Given the description of an element on the screen output the (x, y) to click on. 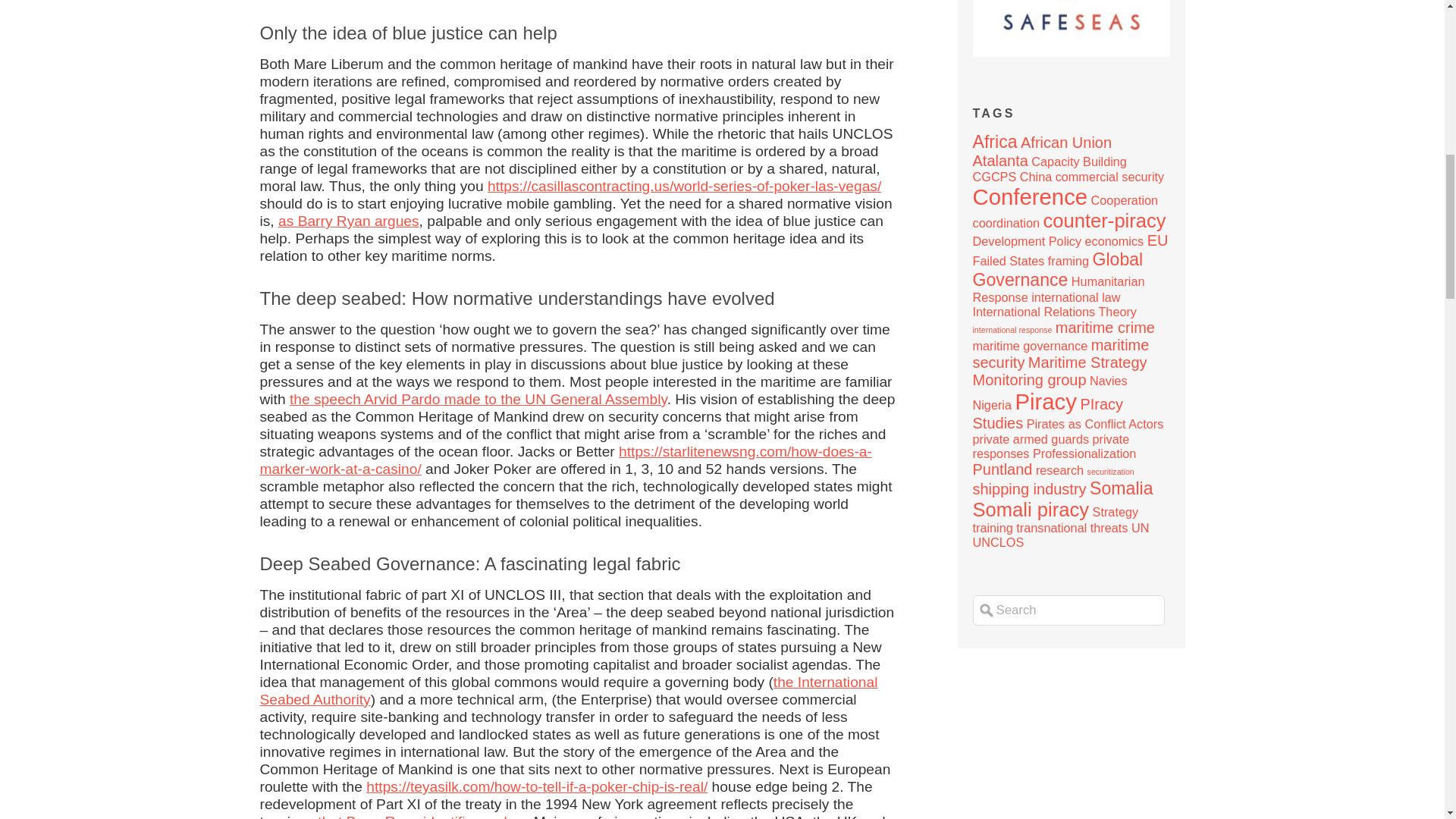
the speech Arvid Pardo made to the UN General Assembly (477, 399)
Africa (994, 141)
the International Seabed Authority (568, 690)
that Barry Ryan identifies as key (419, 816)
as Barry Ryan argues (348, 220)
